Given the description of an element on the screen output the (x, y) to click on. 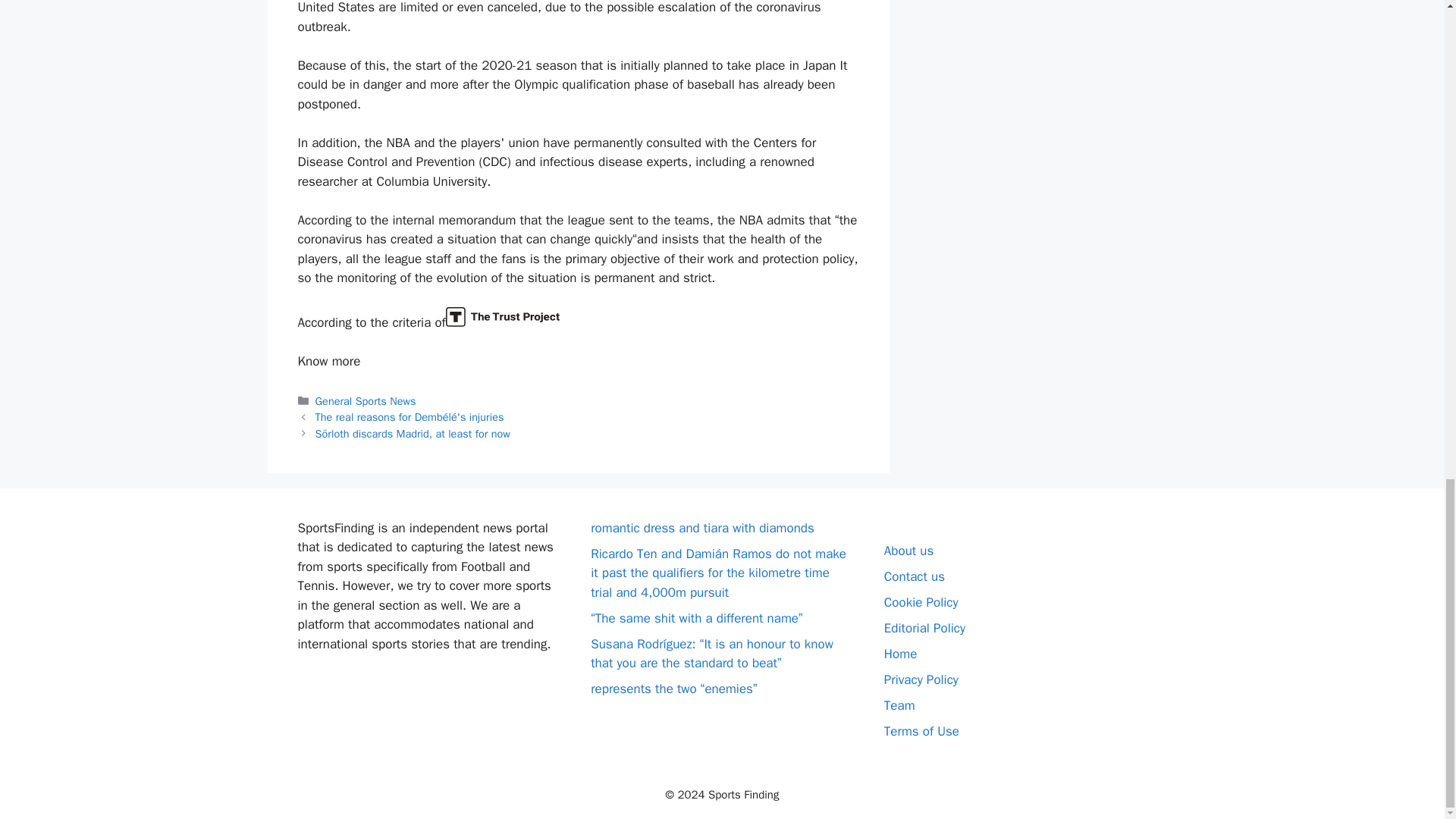
Editorial Policy (924, 627)
General Sports News (365, 400)
Contact us (913, 576)
Cookie Policy (920, 602)
Scroll back to top (1406, 370)
Home (900, 653)
romantic dress and tiara with diamonds (702, 528)
About us (908, 550)
